Given the description of an element on the screen output the (x, y) to click on. 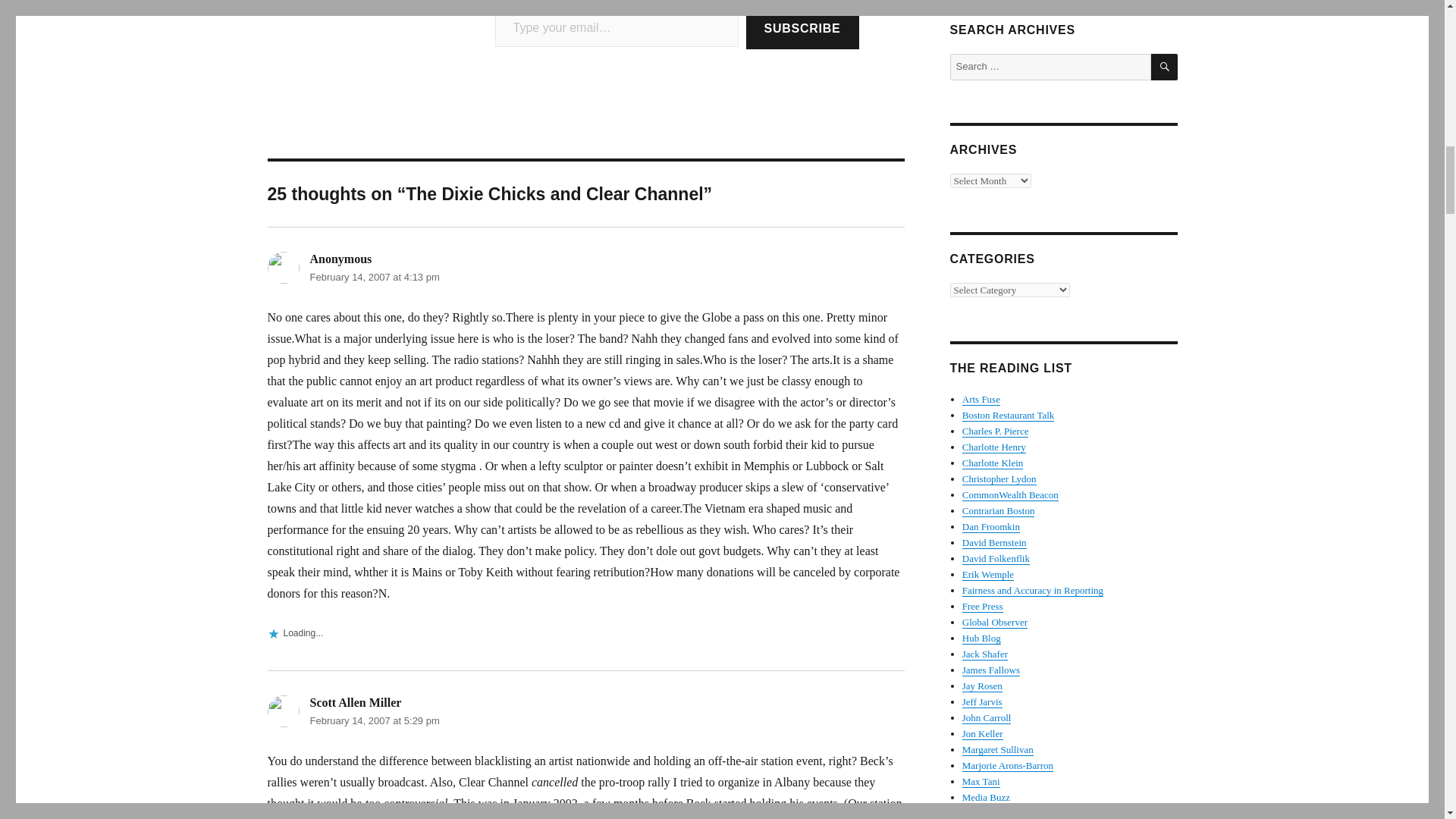
SUBSCRIBE (802, 29)
Please fill in this field. (616, 27)
